Given the description of an element on the screen output the (x, y) to click on. 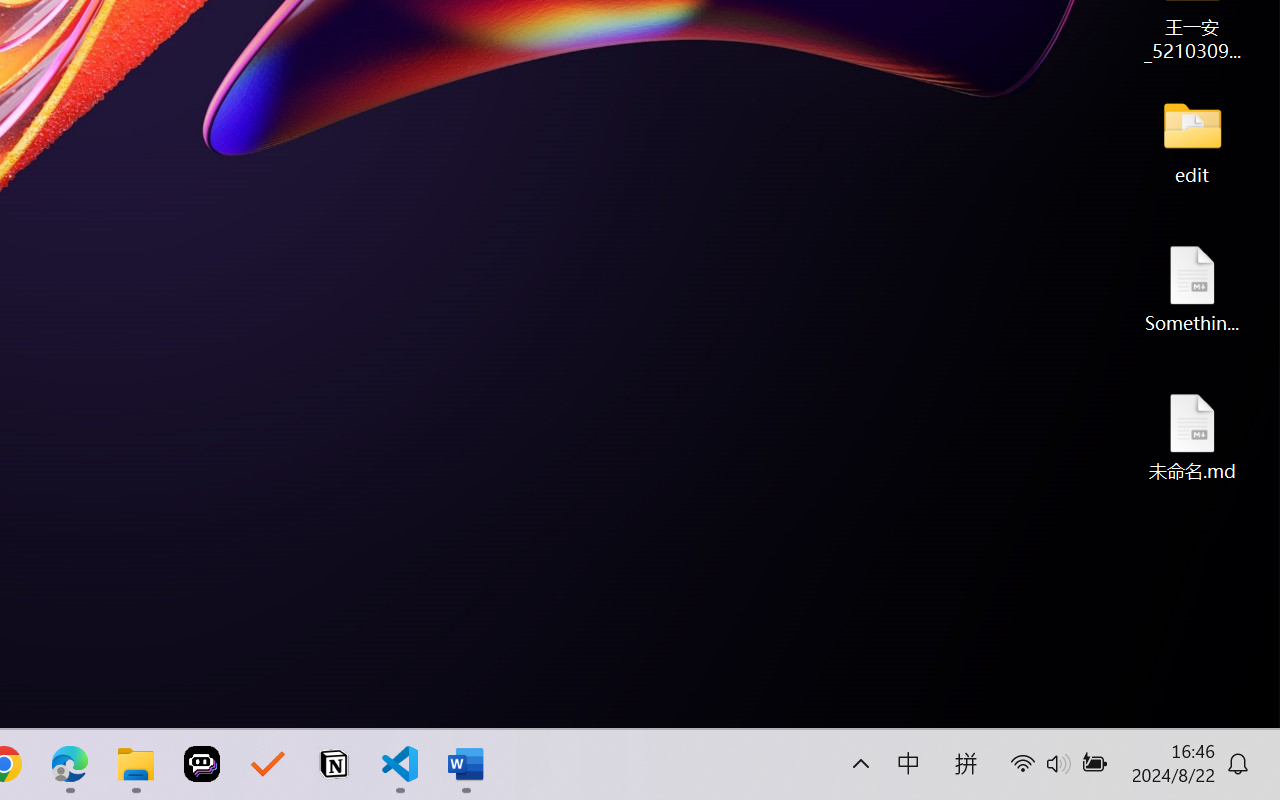
edit (1192, 140)
Something.md (1192, 288)
